Given the description of an element on the screen output the (x, y) to click on. 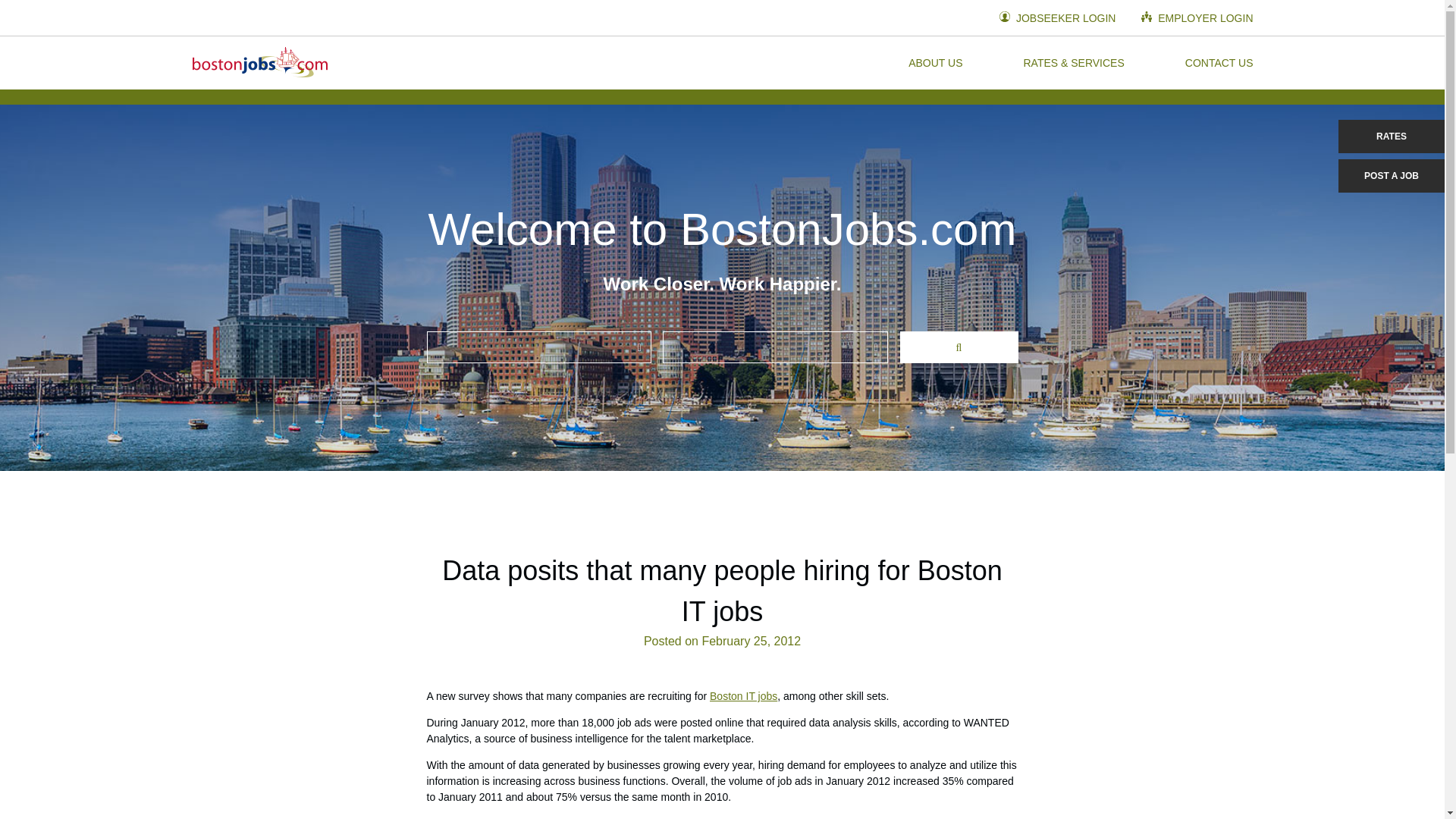
CONTACT US (1219, 62)
Boston IT jobs (743, 695)
ABOUT US (935, 62)
Boston Jobs (258, 62)
JOBSEEKER LOGIN (1056, 18)
EMPLOYER LOGIN (1196, 18)
